Given the description of an element on the screen output the (x, y) to click on. 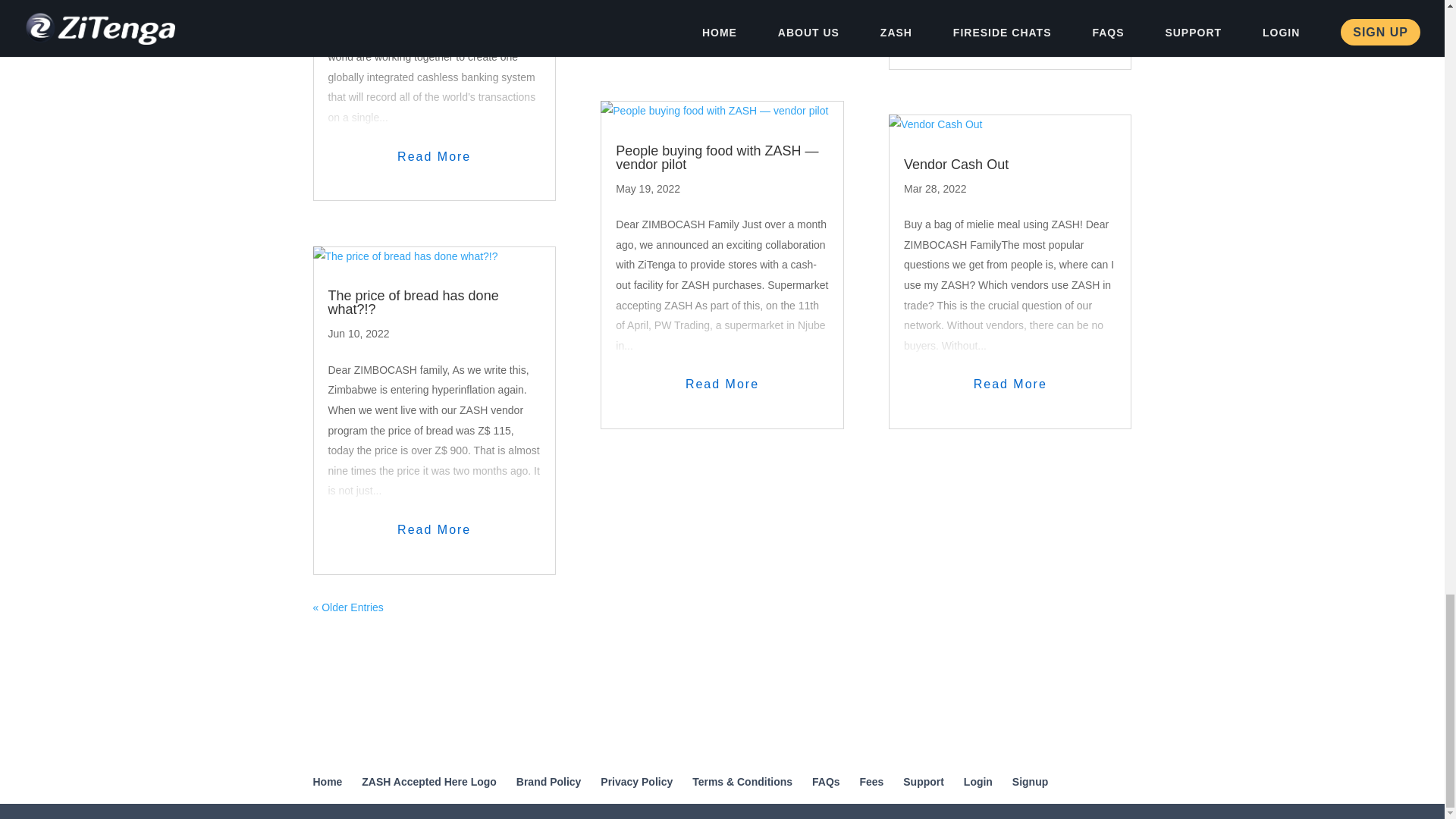
The price of bread has done what?!? (412, 302)
Read More (721, 11)
Read More (721, 384)
Read More (433, 157)
Read More (433, 530)
